Given the description of an element on the screen output the (x, y) to click on. 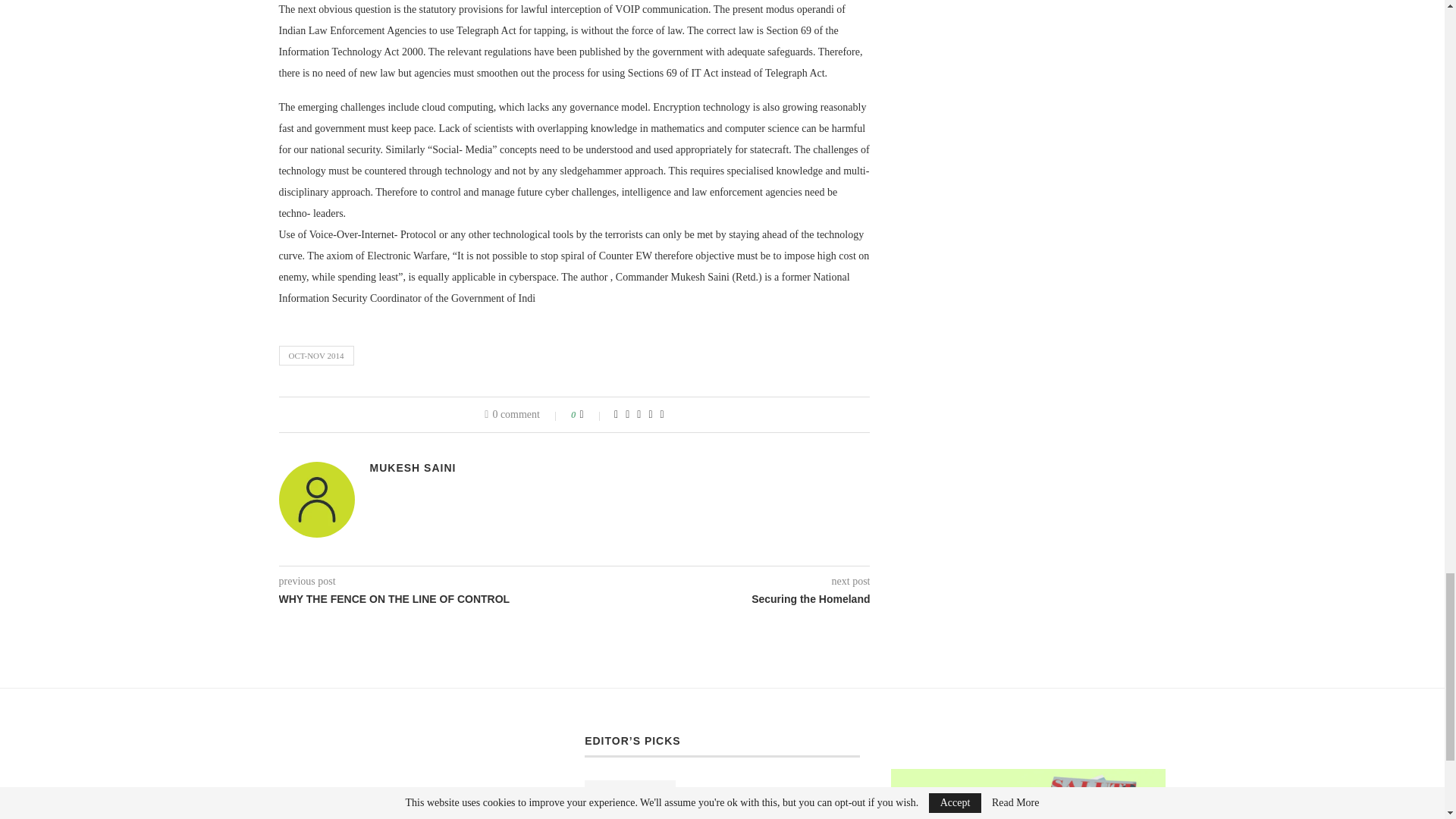
MUKESH SAINI (413, 467)
CONTACT US (925, 739)
Author Mukesh Saini (413, 467)
Securing the Homeland (722, 599)
How China Took Over Tibet (630, 799)
Like (591, 414)
WHY THE FENCE ON THE LINE OF CONTROL (427, 599)
How China Took Over Tibet (775, 788)
How China Took Over Tibet (775, 788)
OCT-NOV 2014 (316, 355)
